Given the description of an element on the screen output the (x, y) to click on. 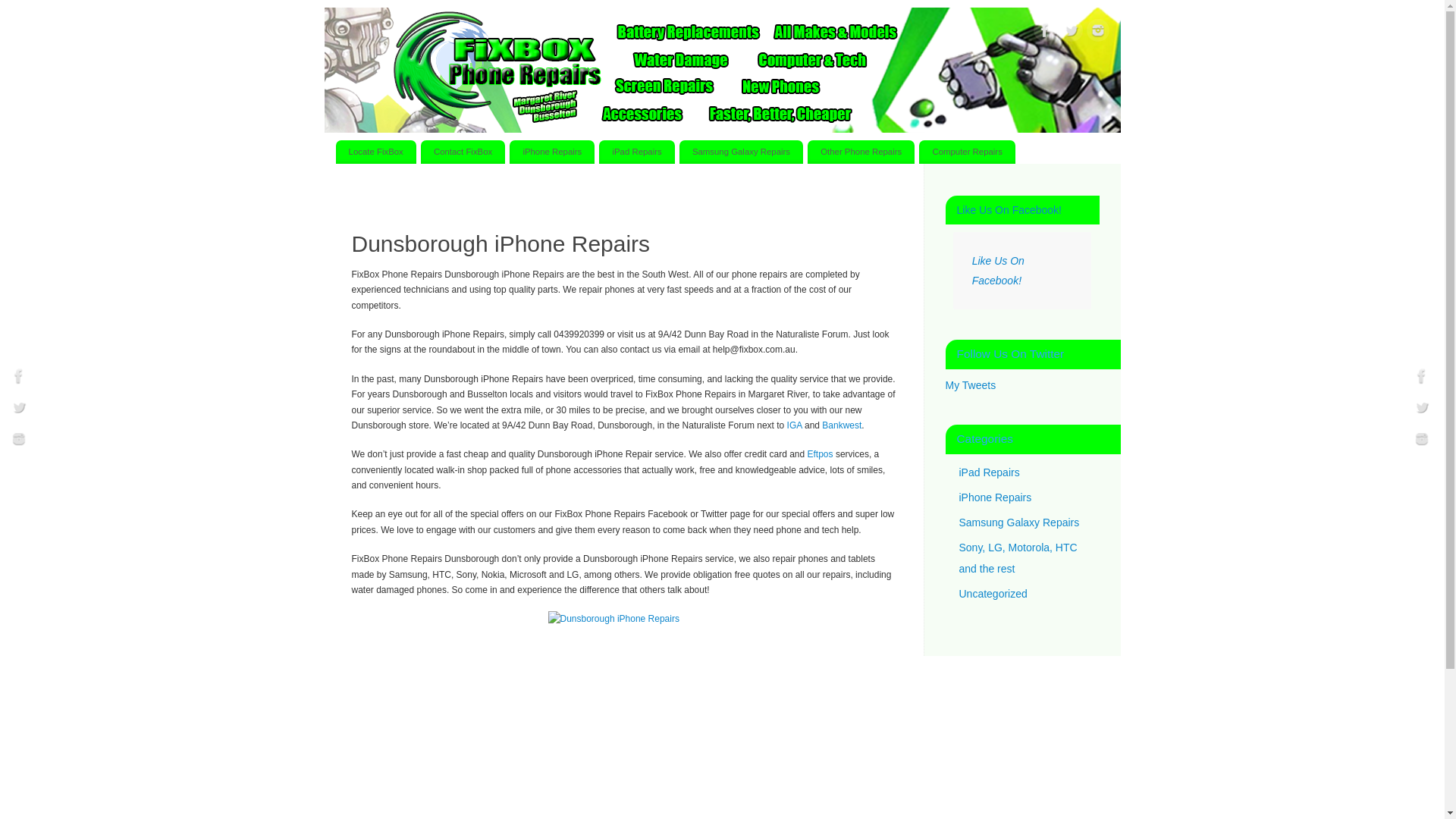
Twitter Element type: hover (1071, 32)
Samsung Galaxy Repairs Element type: text (1018, 521)
Facebook Element type: hover (1421, 377)
Twitter Element type: hover (18, 409)
iPad Repairs Element type: text (636, 151)
Twitter Element type: hover (1421, 409)
Sony, LG, Motorola, HTC and the rest Element type: text (1017, 557)
Uncategorized Element type: text (992, 592)
My Tweets Element type: text (969, 385)
iPad Repairs Element type: text (988, 471)
Instagram Element type: hover (1096, 32)
Like Us On Facebook! Element type: text (998, 270)
Contact FixBox Element type: text (462, 151)
Eftpos Element type: text (820, 453)
Other Phone Repairs Element type: text (860, 151)
Facebook Element type: hover (18, 377)
Like Us On Facebook! Element type: text (1009, 209)
iPhone Repairs Element type: text (994, 497)
iPhone Repairs Element type: text (551, 151)
Instagram Element type: hover (1421, 440)
Bankwest Element type: text (841, 425)
Computer Repairs Element type: text (967, 151)
Locate FixBox Element type: text (375, 151)
Samsung Galaxy Repairs Element type: text (741, 151)
IGA Element type: text (794, 425)
Facebook Element type: hover (1043, 32)
Instagram Element type: hover (18, 440)
